Given the description of an element on the screen output the (x, y) to click on. 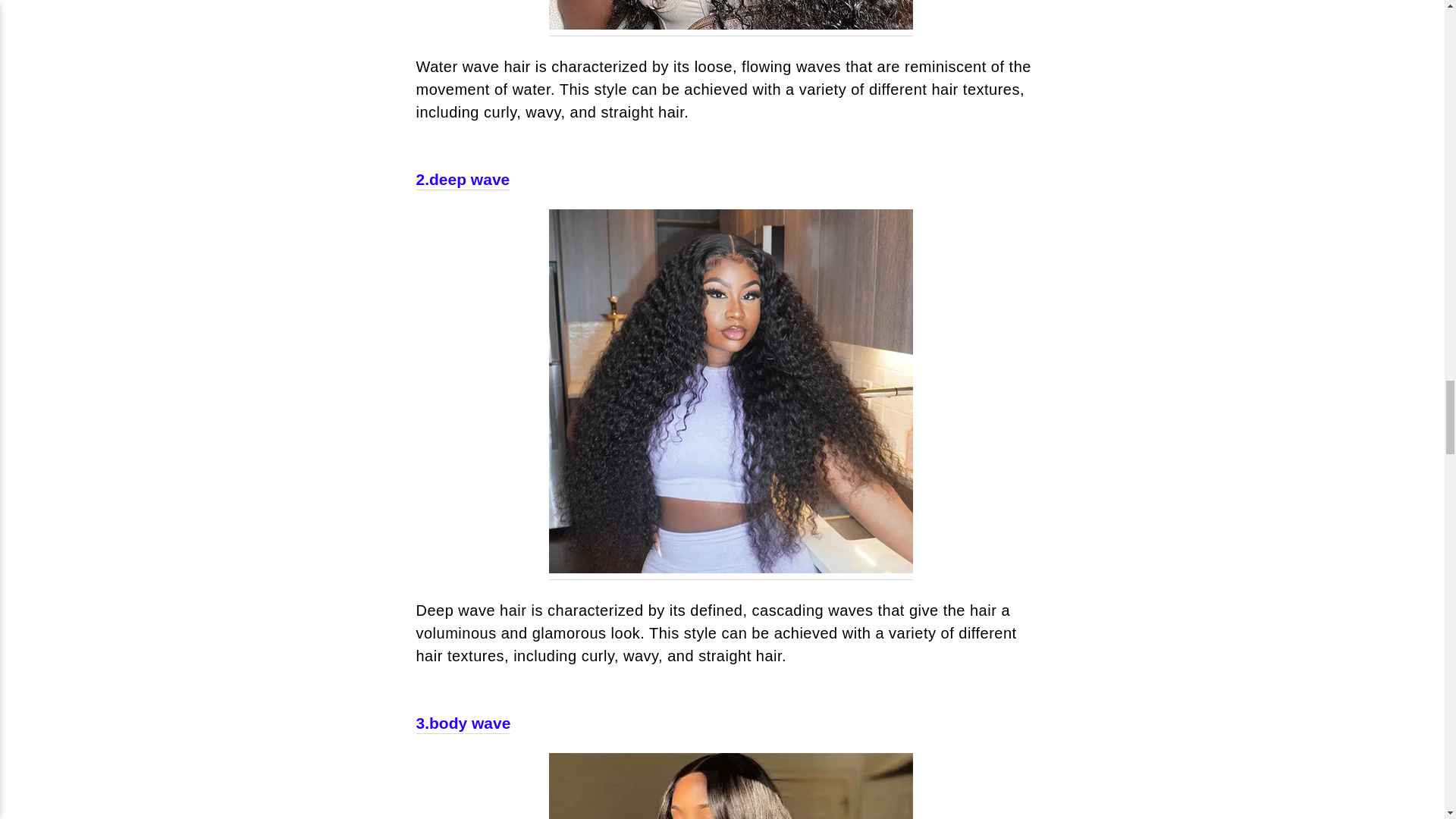
Water Wave Wig (730, 18)
deep wave wig (461, 179)
Body Wave Wig (462, 722)
Body Wave Wig (730, 785)
